Given the description of an element on the screen output the (x, y) to click on. 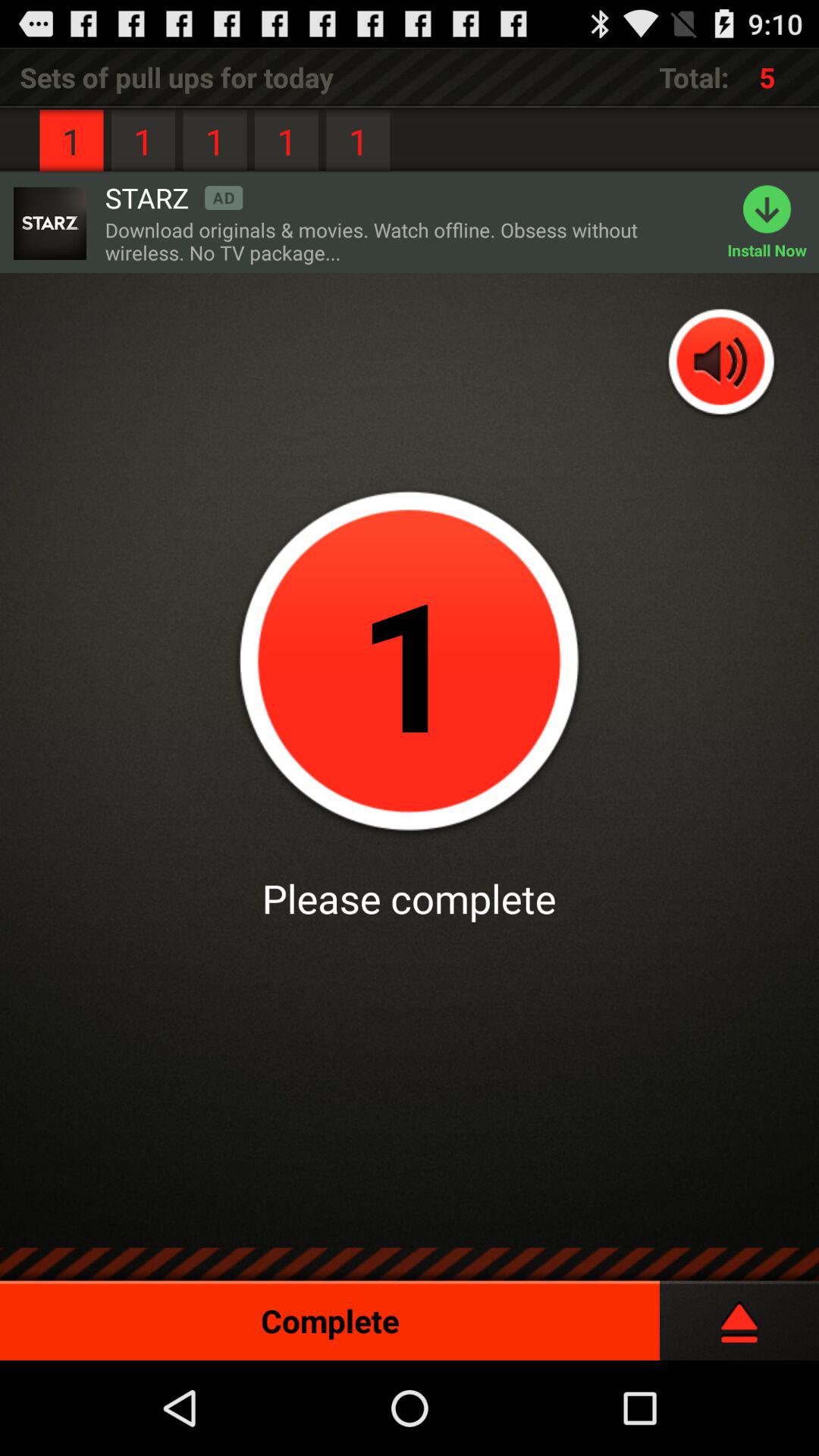
press the item to the right of download originals movies icon (773, 223)
